Given the description of an element on the screen output the (x, y) to click on. 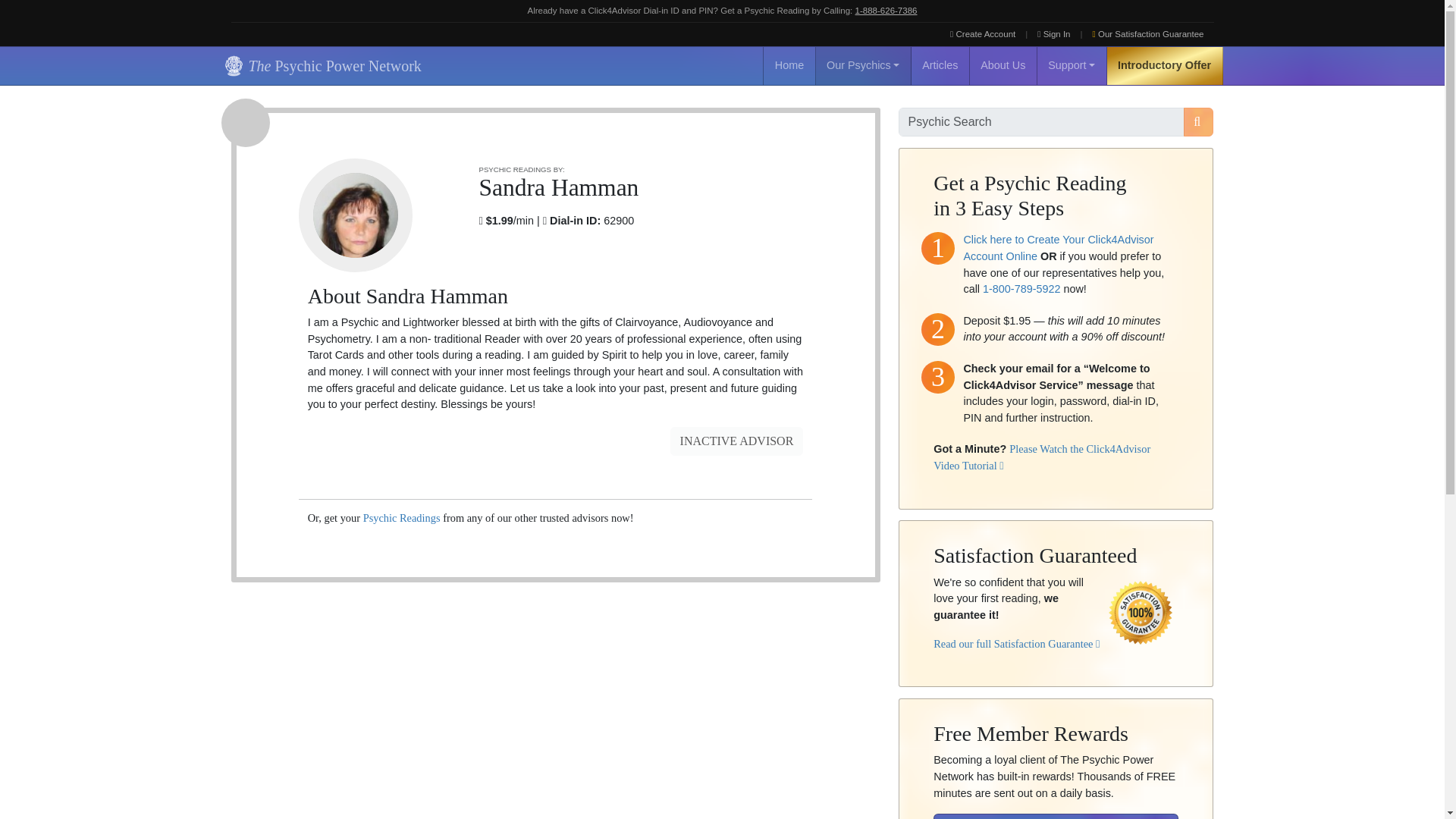
Home (788, 65)
About Us (1002, 65)
Create Account (982, 33)
Please Watch the Click4Advisor Video Tutorial  (1041, 457)
Psychic Readings (401, 517)
Our Psychics (863, 65)
Home (788, 65)
The Psychic Power Network (320, 65)
Read our full Satisfaction Guarantee  (1016, 644)
The Psychic Power Network (320, 65)
Click here to Create Your Click4Advisor Account Online (1057, 247)
Articles (940, 65)
Psychic Readings (401, 517)
Our Satisfaction Guarantee (1148, 33)
